Given the description of an element on the screen output the (x, y) to click on. 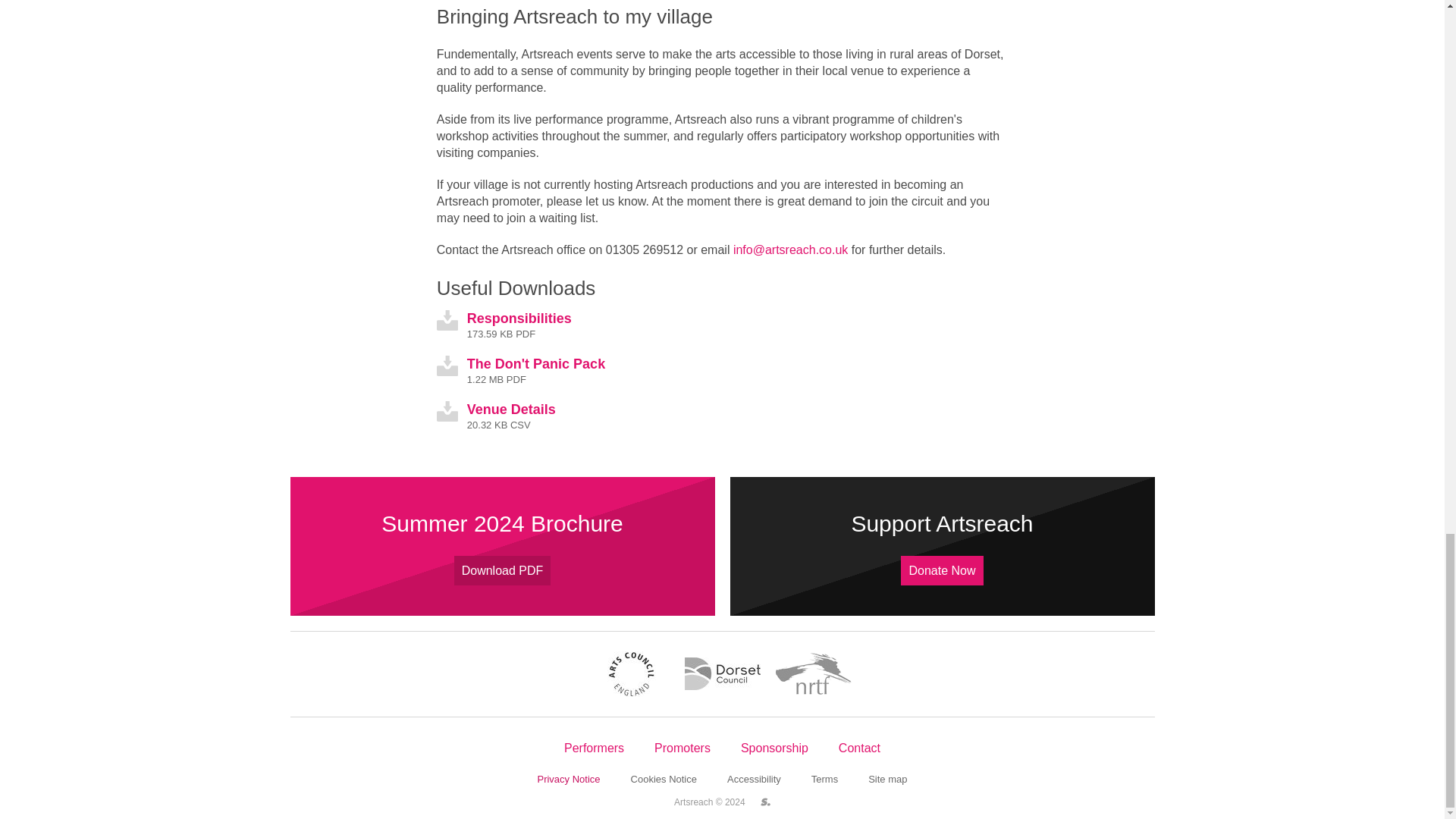
download (447, 365)
download (447, 320)
download (447, 411)
